Given the description of an element on the screen output the (x, y) to click on. 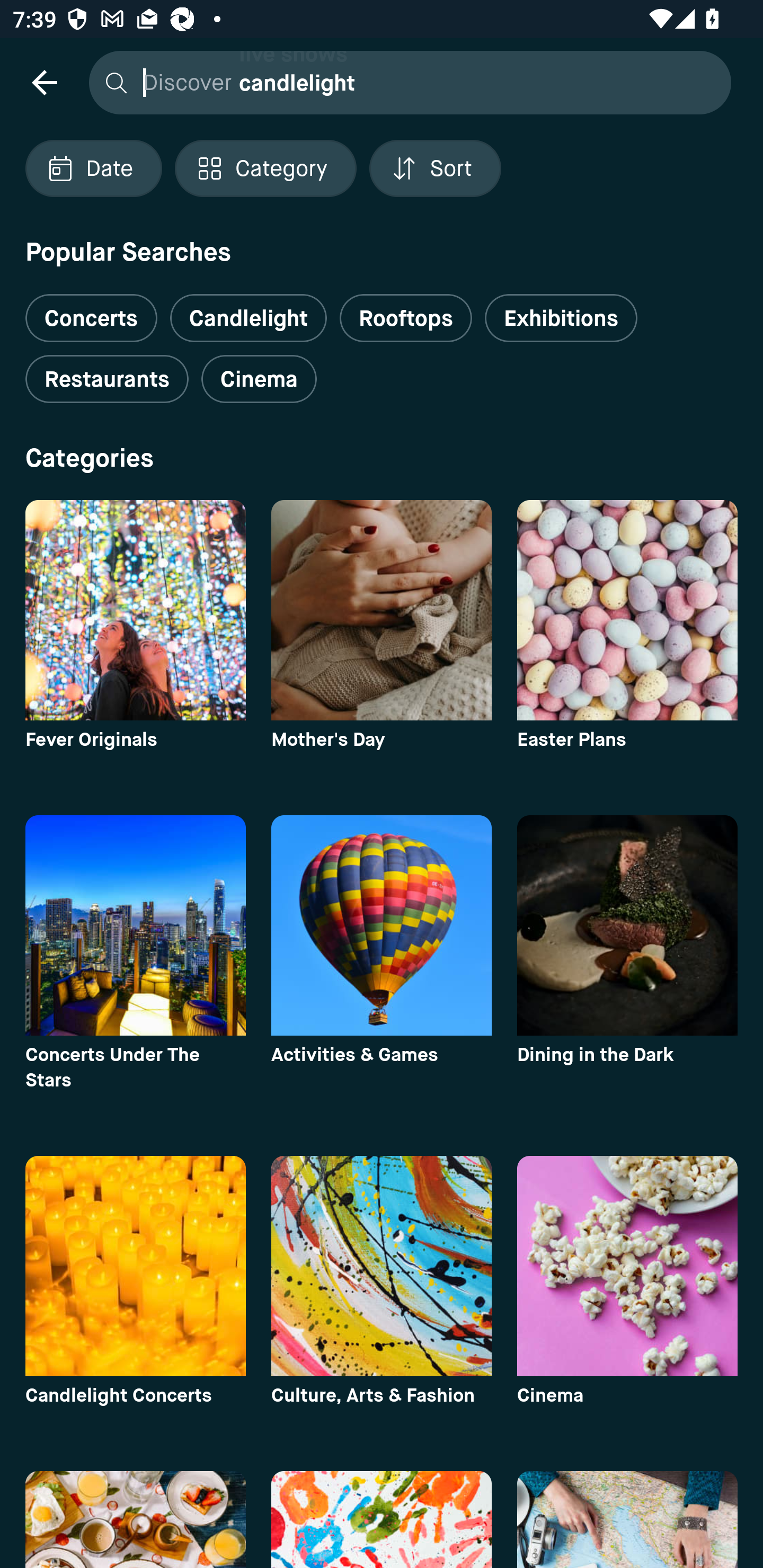
navigation icon (44, 81)
Discover live shows candlelight (405, 81)
Localized description Date (93, 168)
Localized description Category (265, 168)
Localized description Sort (435, 168)
Concerts (91, 310)
Candlelight (248, 317)
Rooftops (405, 317)
Exhibitions (560, 317)
Restaurants (106, 379)
Cinema (258, 379)
category image (135, 609)
category image (381, 609)
category image (627, 609)
category image (135, 924)
category image (381, 924)
category image (627, 924)
category image (135, 1265)
category image (381, 1265)
category image (627, 1265)
